Given the description of an element on the screen output the (x, y) to click on. 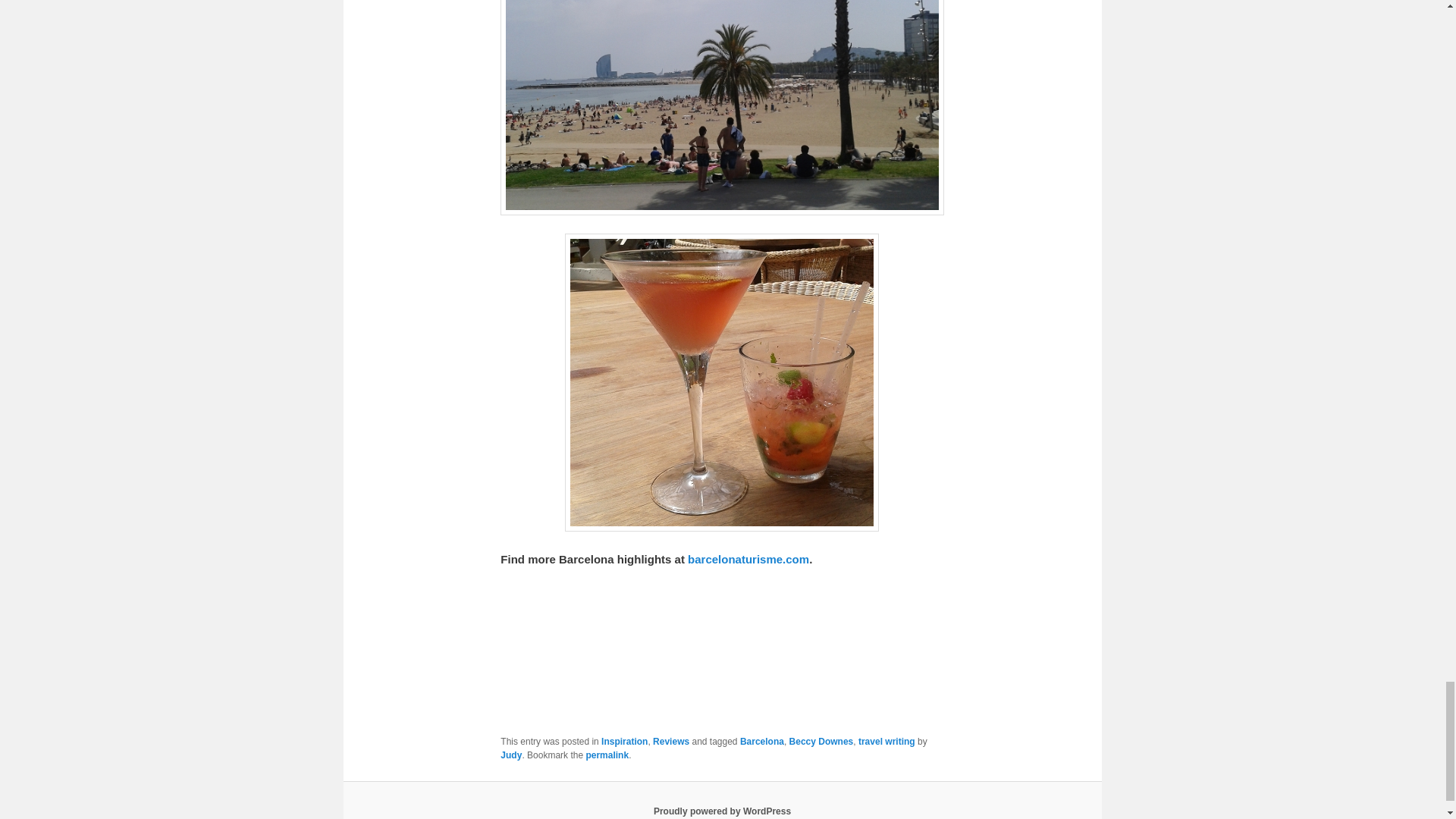
Inspiration (624, 741)
Beccy Downes (821, 741)
Barcelona (761, 741)
travel writing (887, 741)
barcelonaturisme.com (748, 558)
Reviews (670, 741)
Semantic Personal Publishing Platform (721, 810)
